Given the description of an element on the screen output the (x, y) to click on. 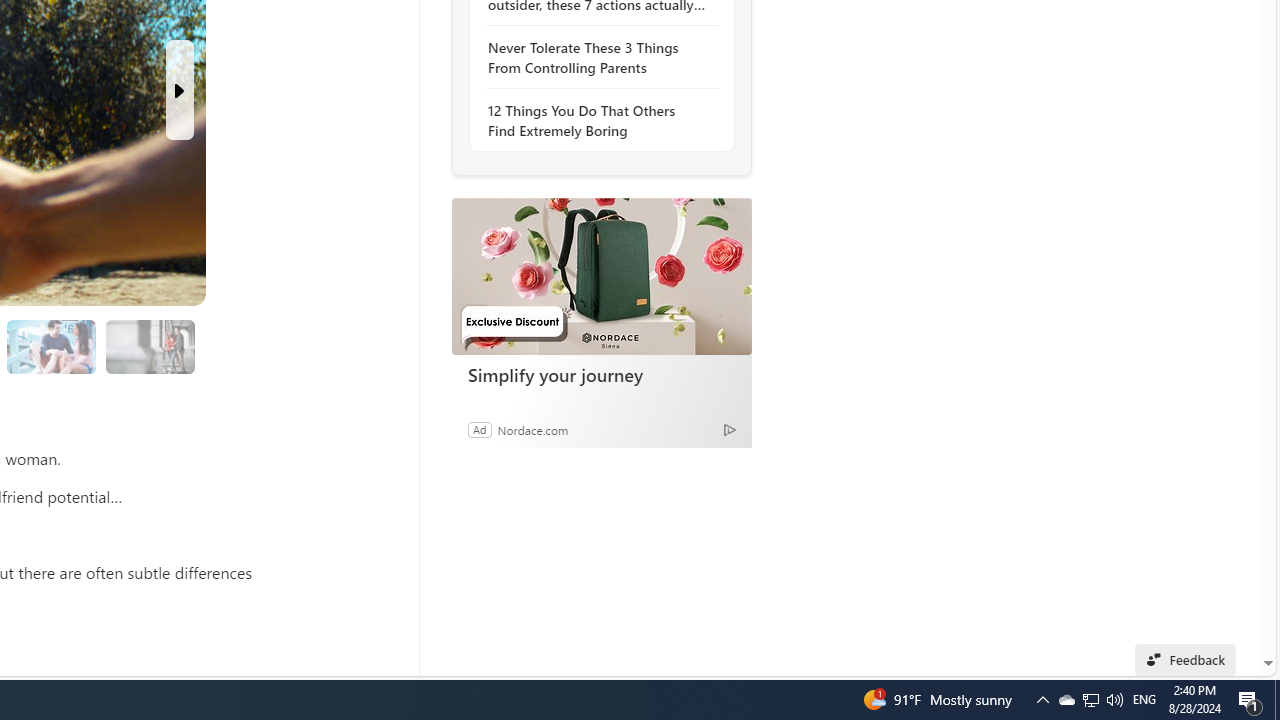
Class: icon-img (736, 543)
Feedback (1206, 659)
tab-3 (524, 175)
tab-2 (511, 175)
Movie and TV premieres (583, 543)
Expand background (1233, 610)
Microsoft Edge (553, 227)
Launch Edge (616, 491)
Get better battery performance with Microsoft Edge (609, 446)
Get better battery performance with Microsoft Edge (616, 321)
tab-1 (500, 175)
tab-4 (535, 175)
Edit Background (1233, 577)
tab-0 (488, 175)
